Given the description of an element on the screen output the (x, y) to click on. 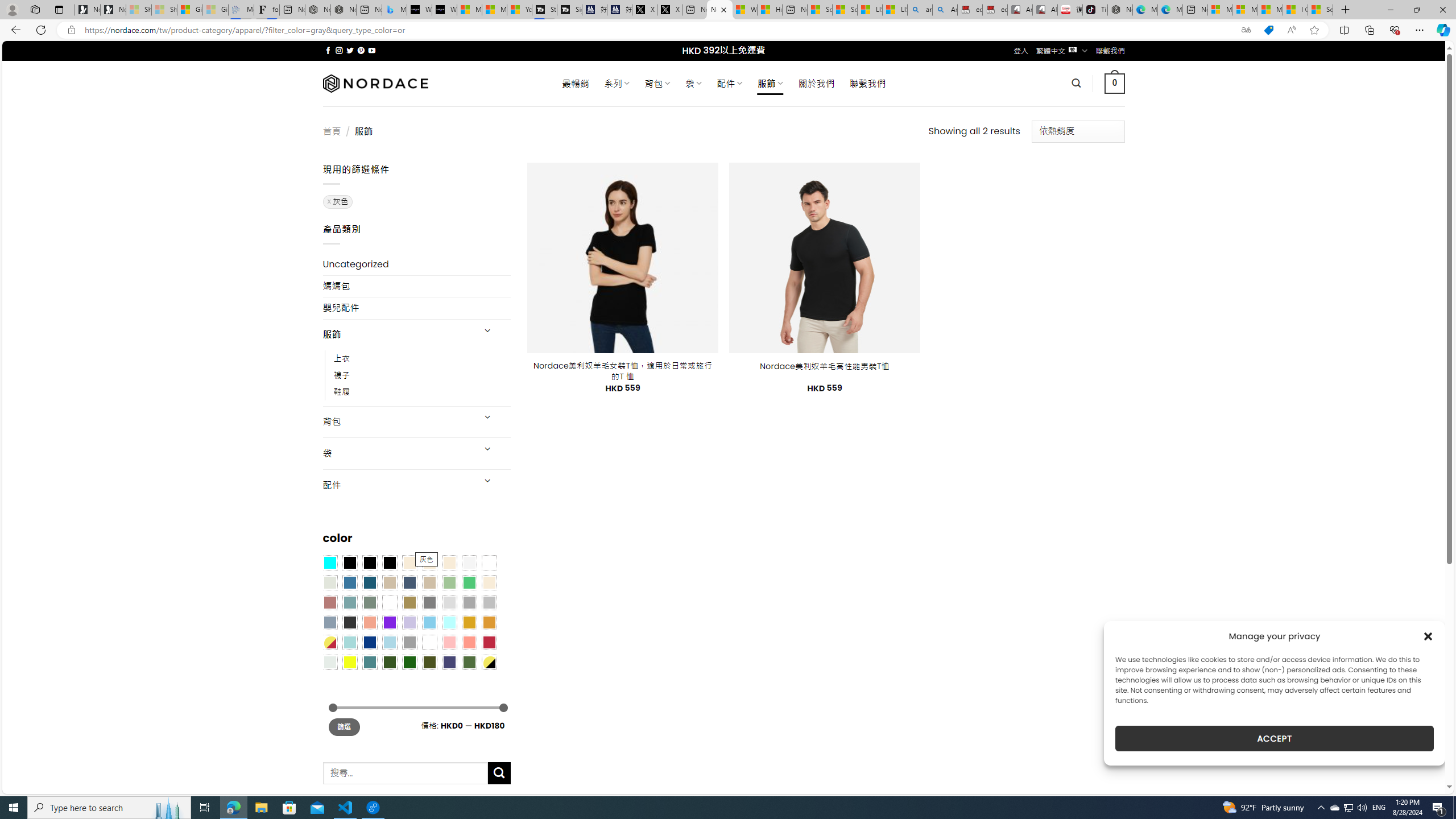
Streaming Coverage | T3 (544, 9)
